Given the description of an element on the screen output the (x, y) to click on. 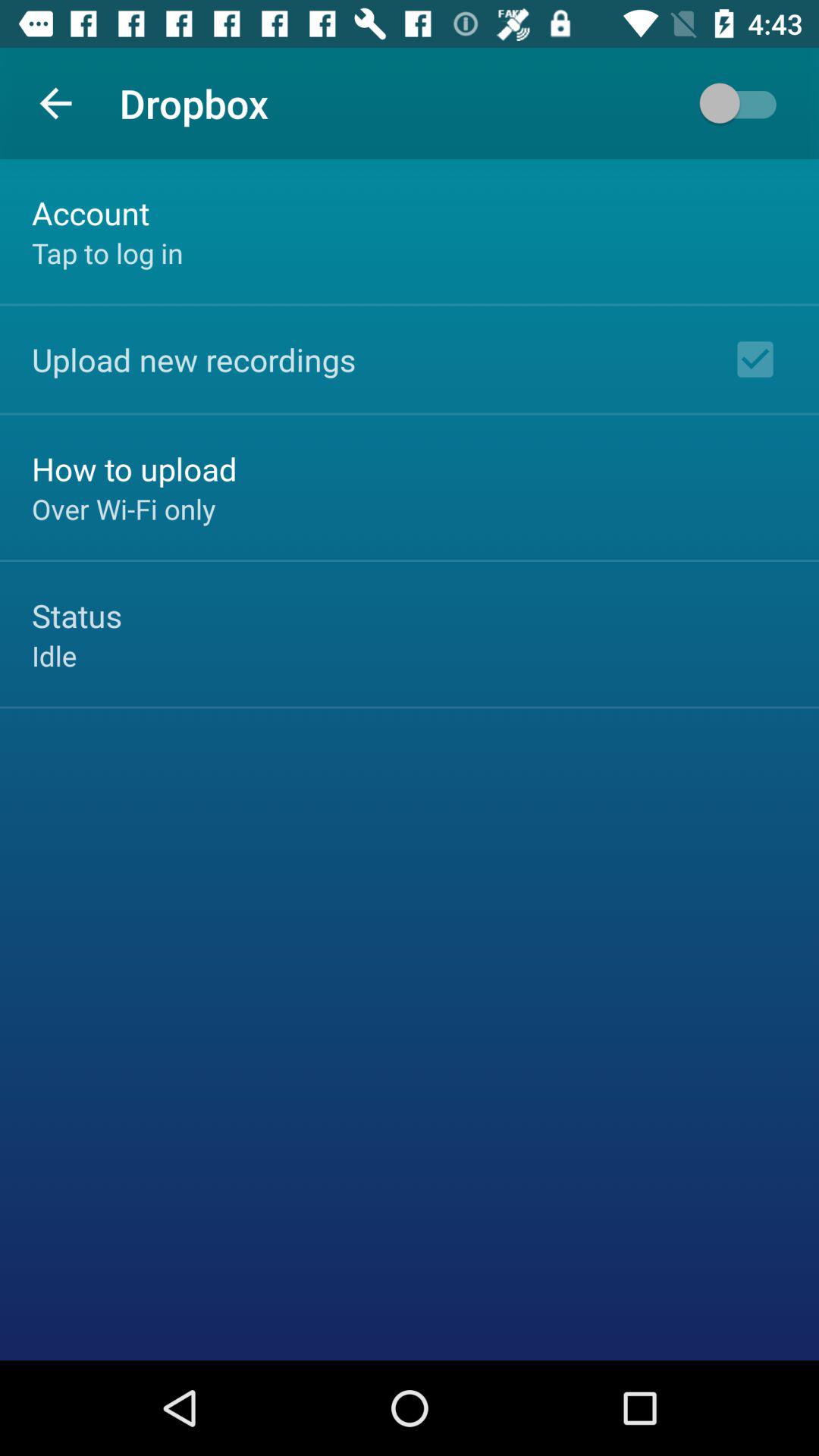
press the app to the left of the dropbox icon (55, 103)
